Given the description of an element on the screen output the (x, y) to click on. 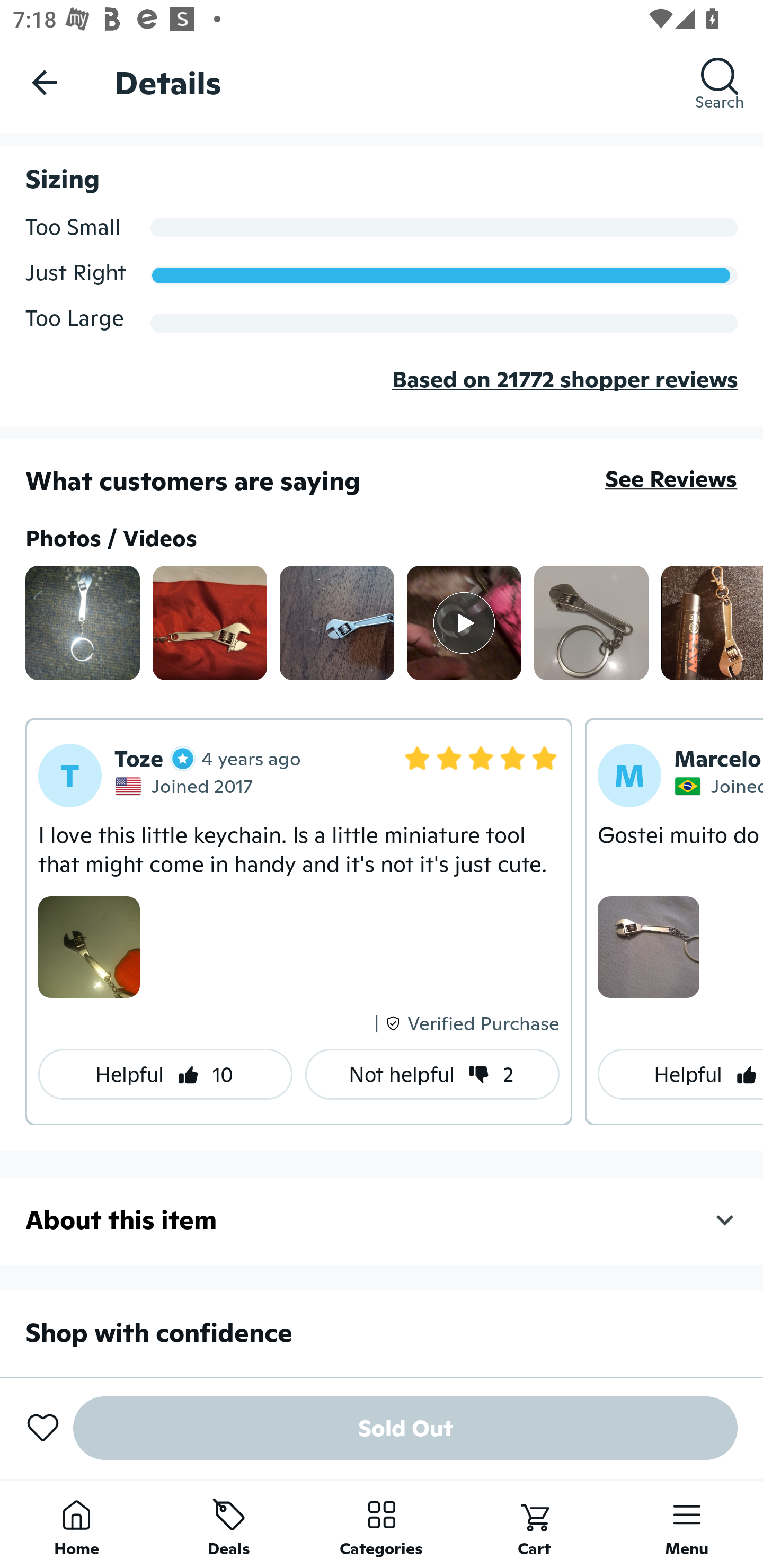
Navigate up (44, 82)
Search (719, 82)
Based on 21772 shopper reviews (381, 393)
See Reviews (671, 478)
T (69, 775)
Toze (154, 758)
M (629, 775)
Marcelo (717, 758)
Joined 2017  (185, 785)
Joined 2020  (718, 785)
Helpful 10 (165, 1073)
Not helpful 2 (432, 1073)
Helpful (680, 1073)
About this item (381, 1219)
Sold Out (405, 1428)
Home (76, 1523)
Deals (228, 1523)
Categories (381, 1523)
Cart (533, 1523)
Menu (686, 1523)
